Given the description of an element on the screen output the (x, y) to click on. 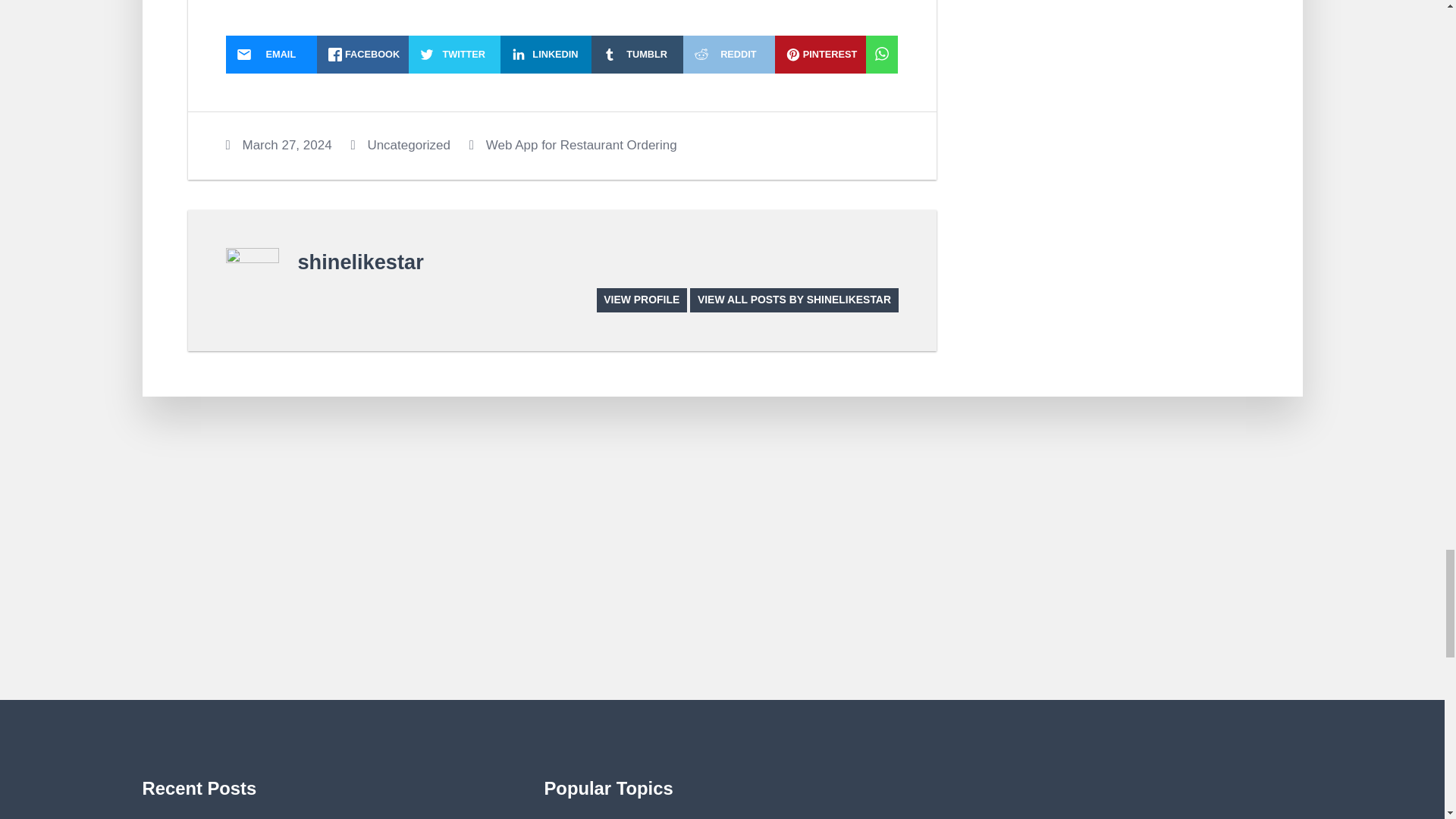
Uncategorized (407, 145)
VIEW PROFILE (641, 300)
LINKEDIN (546, 54)
TWITTER (454, 54)
shinelikestar (360, 261)
TUMBLR (636, 54)
FACEBOOK (363, 54)
Web App for Restaurant Ordering (581, 145)
EMAIL (271, 54)
REDDIT (728, 54)
